Given the description of an element on the screen output the (x, y) to click on. 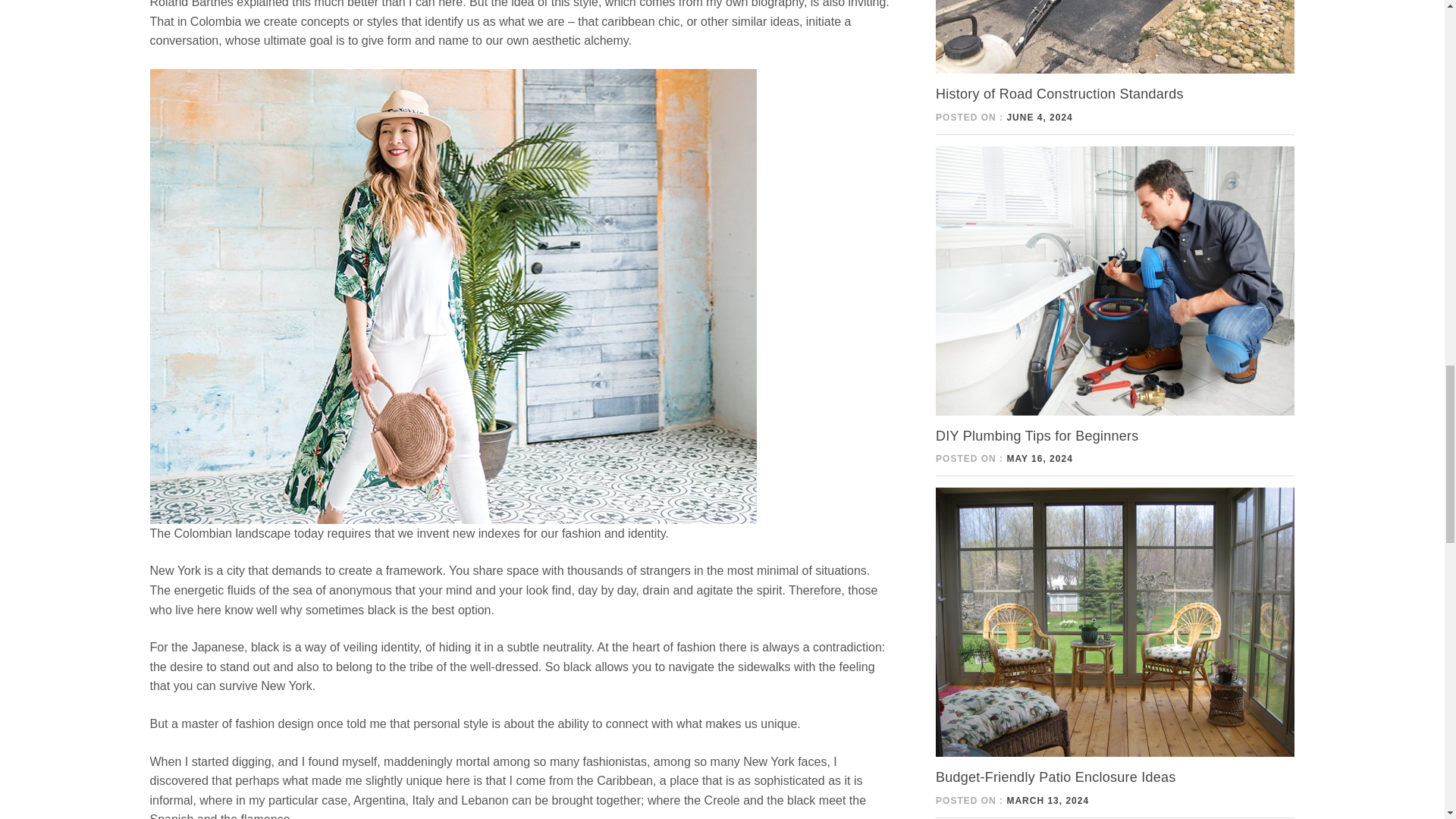
JUNE 4, 2024 (1038, 117)
Budget-Friendly Patio Enclosure Ideas (1055, 776)
MARCH 13, 2024 (1047, 800)
MAY 16, 2024 (1038, 458)
History of Road Construction Standards (1059, 93)
DIY Plumbing Tips for Beginners (1037, 435)
